Given the description of an element on the screen output the (x, y) to click on. 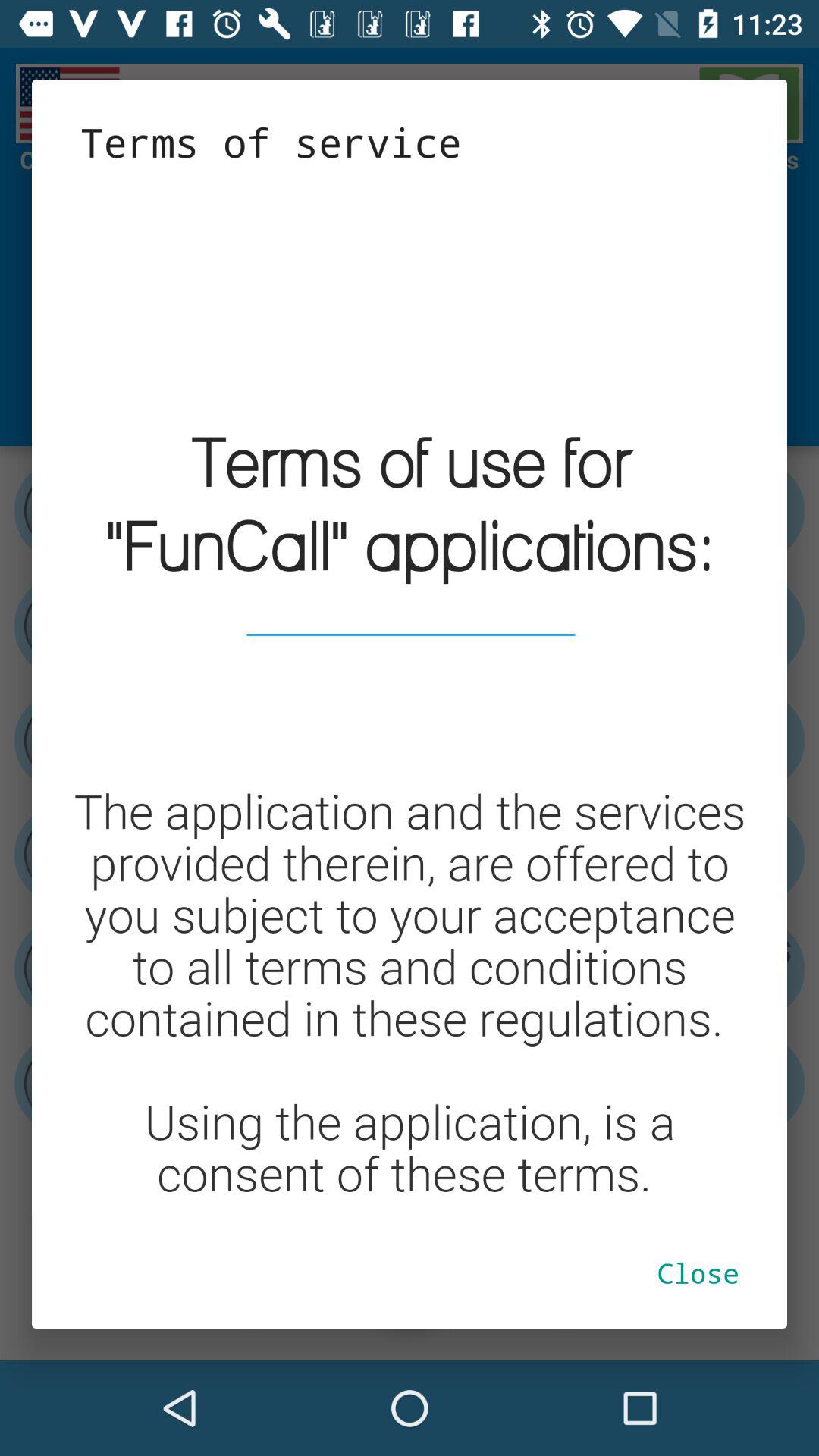
click the close at the bottom right corner (698, 1272)
